Given the description of an element on the screen output the (x, y) to click on. 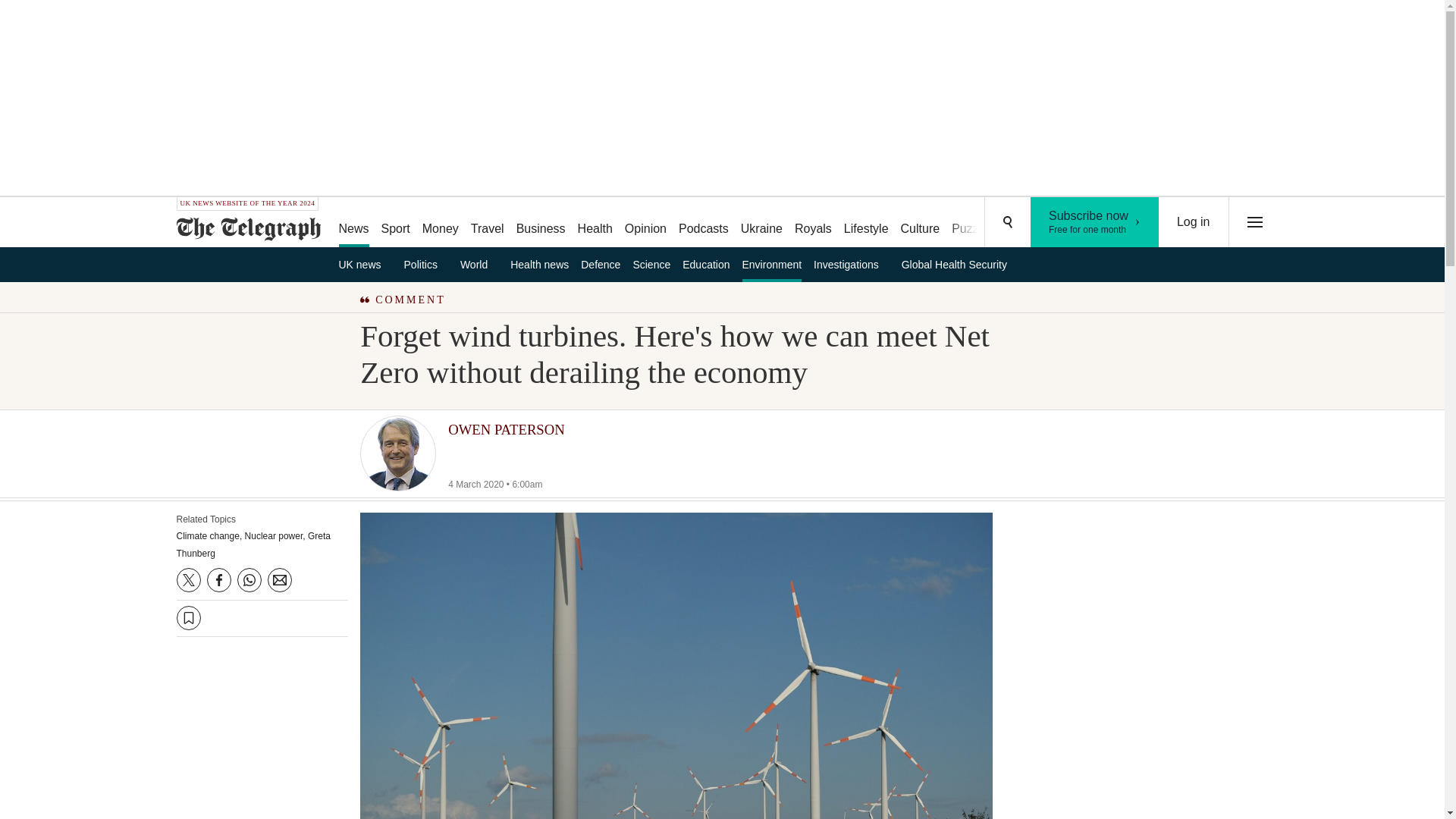
Opinion (645, 223)
Lifestyle (866, 223)
Ukraine (762, 223)
World (478, 264)
Log in (1193, 222)
Culture (920, 223)
Money (440, 223)
Podcasts (703, 223)
Politics (425, 264)
Travel (487, 223)
Royals (813, 223)
Health (595, 223)
Puzzles (972, 223)
Business (541, 223)
